Given the description of an element on the screen output the (x, y) to click on. 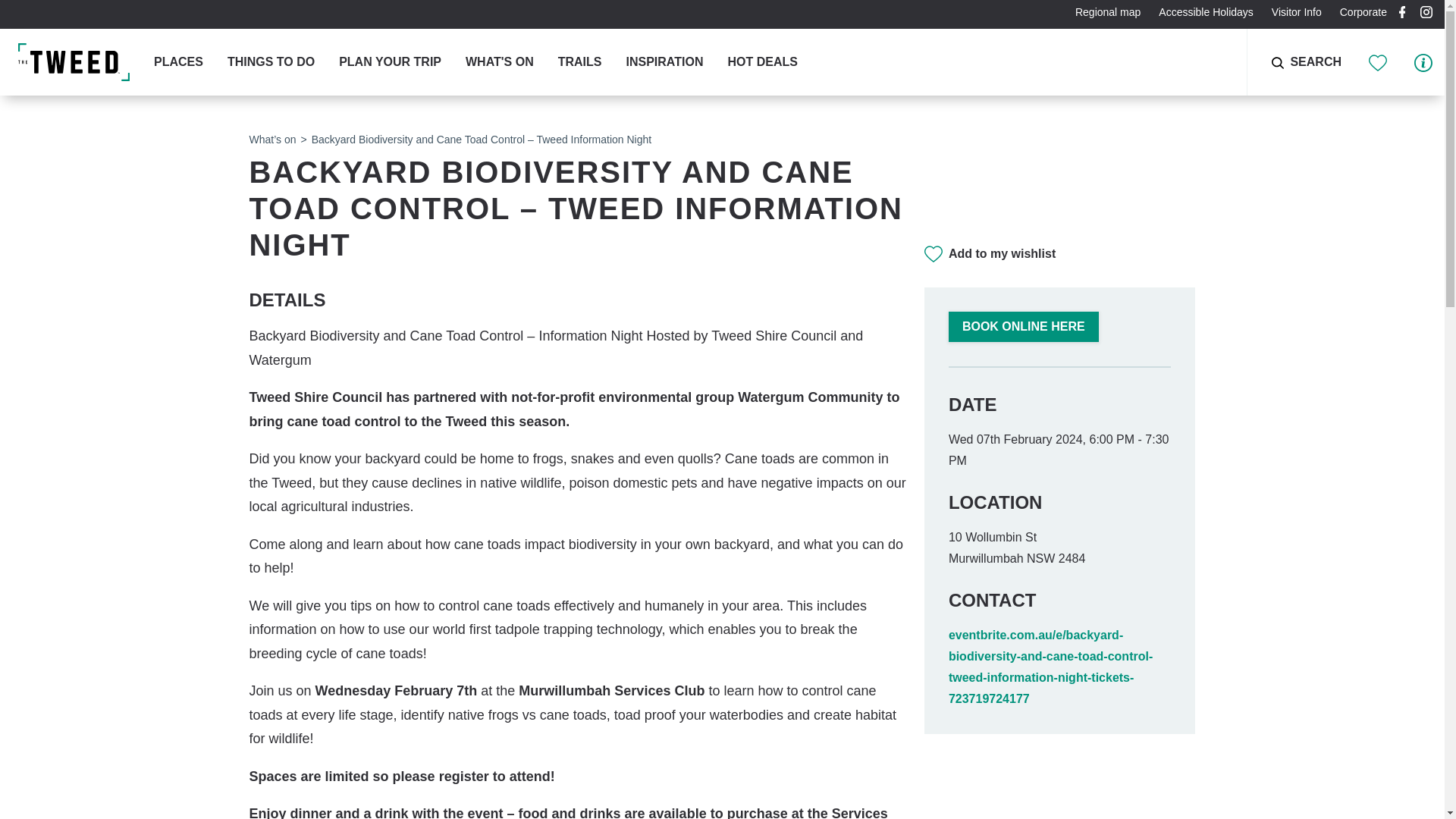
Visitor Info (1296, 11)
Corporate (1363, 11)
WHAT'S ON (499, 61)
HOT DEALS (761, 61)
PLAN YOUR TRIP (390, 61)
INSPIRATION (664, 61)
Visitor Info (1422, 61)
SEARCH (1293, 61)
Wishlist (1379, 61)
Regional map (1107, 11)
Accessible Holidays (1206, 11)
THINGS TO DO (270, 61)
